Given the description of an element on the screen output the (x, y) to click on. 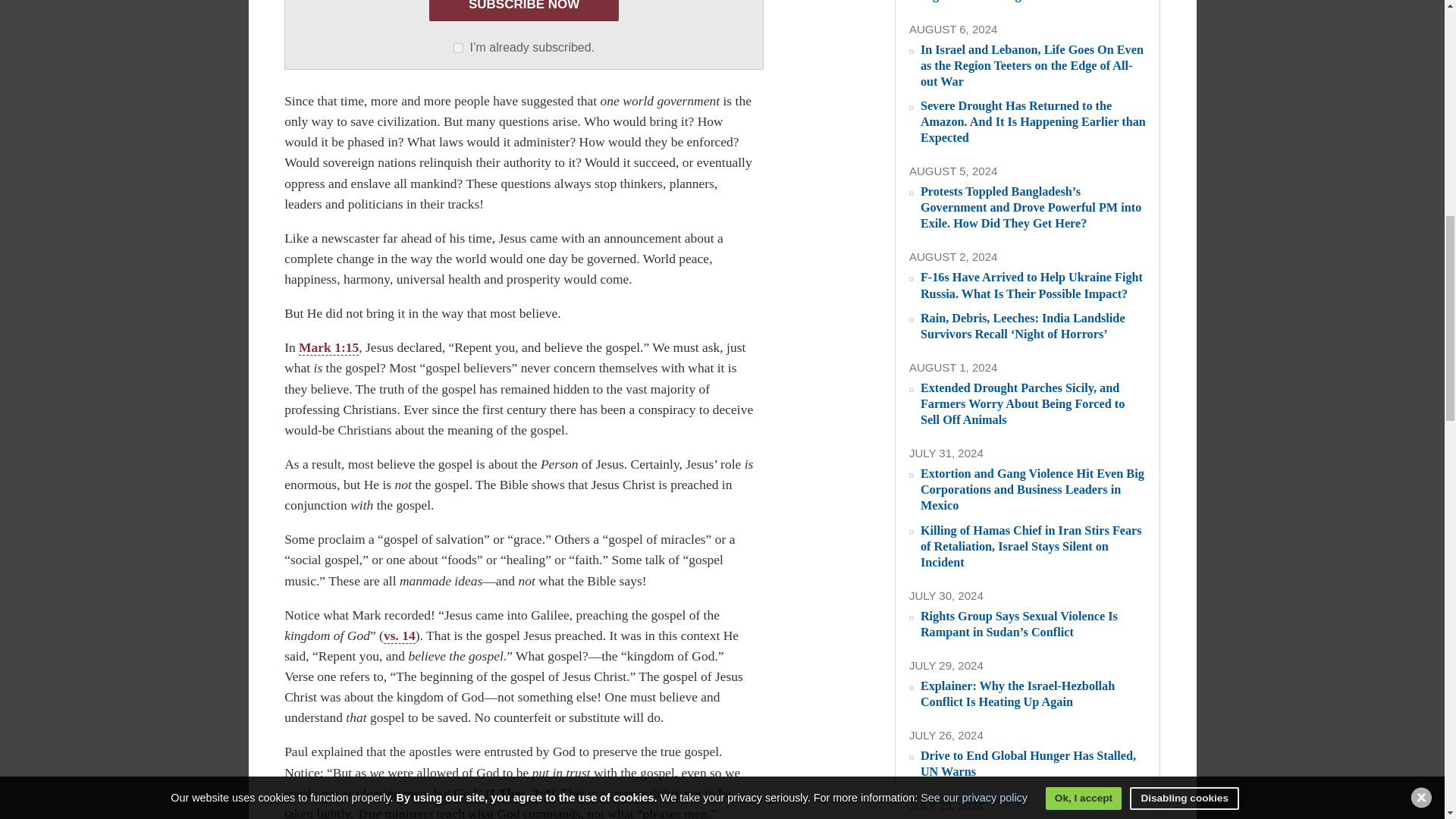
Subscribed (457, 48)
View scripture (519, 793)
View scripture (399, 635)
vs. 14 (399, 635)
I Thes. 2:4 (519, 793)
View scripture (328, 347)
Mark 1:15 (328, 347)
SUBSCRIBE NOW (523, 10)
